Given the description of an element on the screen output the (x, y) to click on. 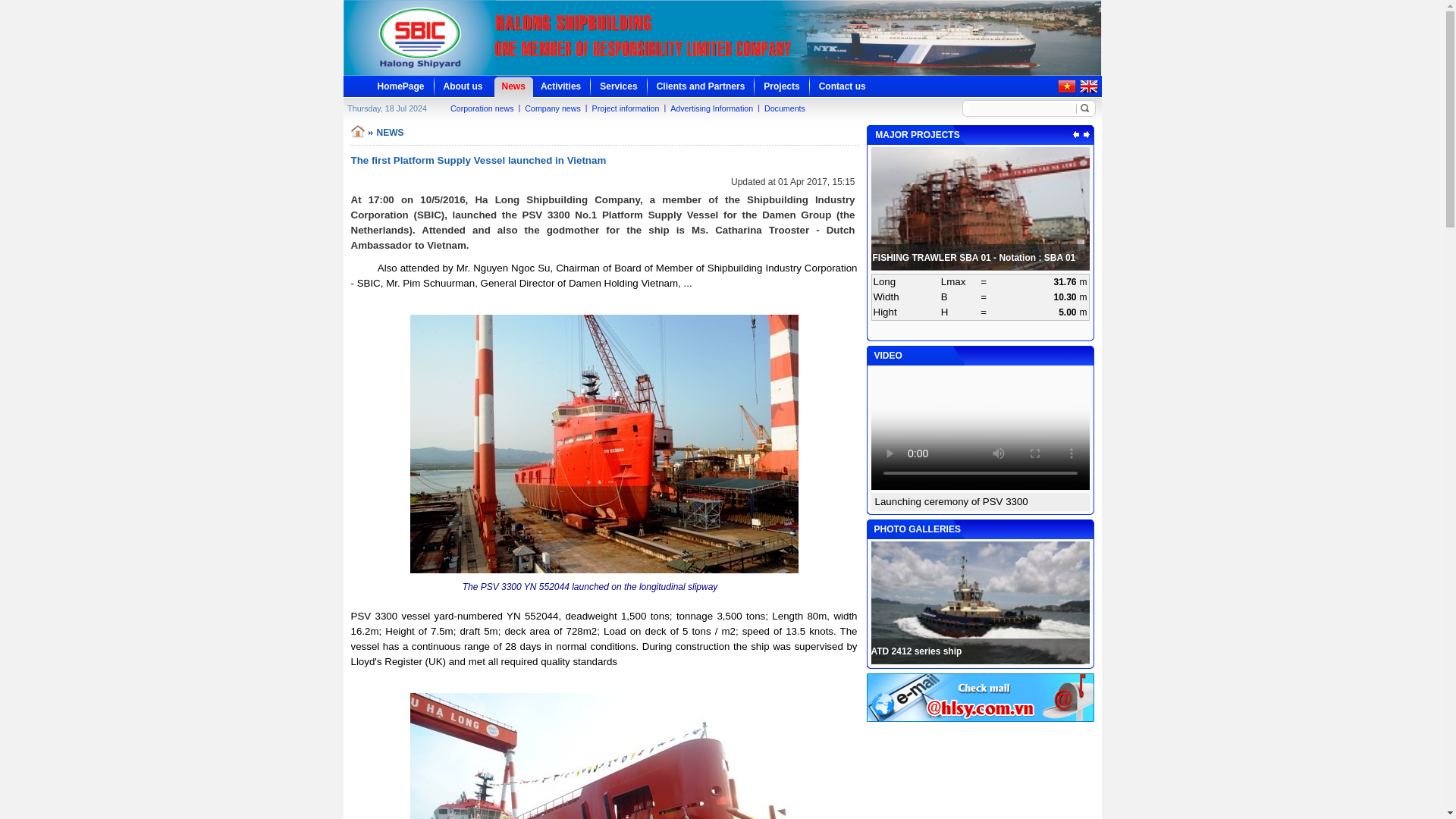
Documents (784, 108)
Advertising Information (710, 108)
Company news (551, 108)
HomePage (401, 86)
Clients and Partners (700, 86)
About us (463, 86)
Activities (560, 86)
News (513, 86)
Projects (780, 86)
Services (618, 86)
Corporation news (481, 108)
Contact us (842, 86)
Project information (625, 108)
